Given the description of an element on the screen output the (x, y) to click on. 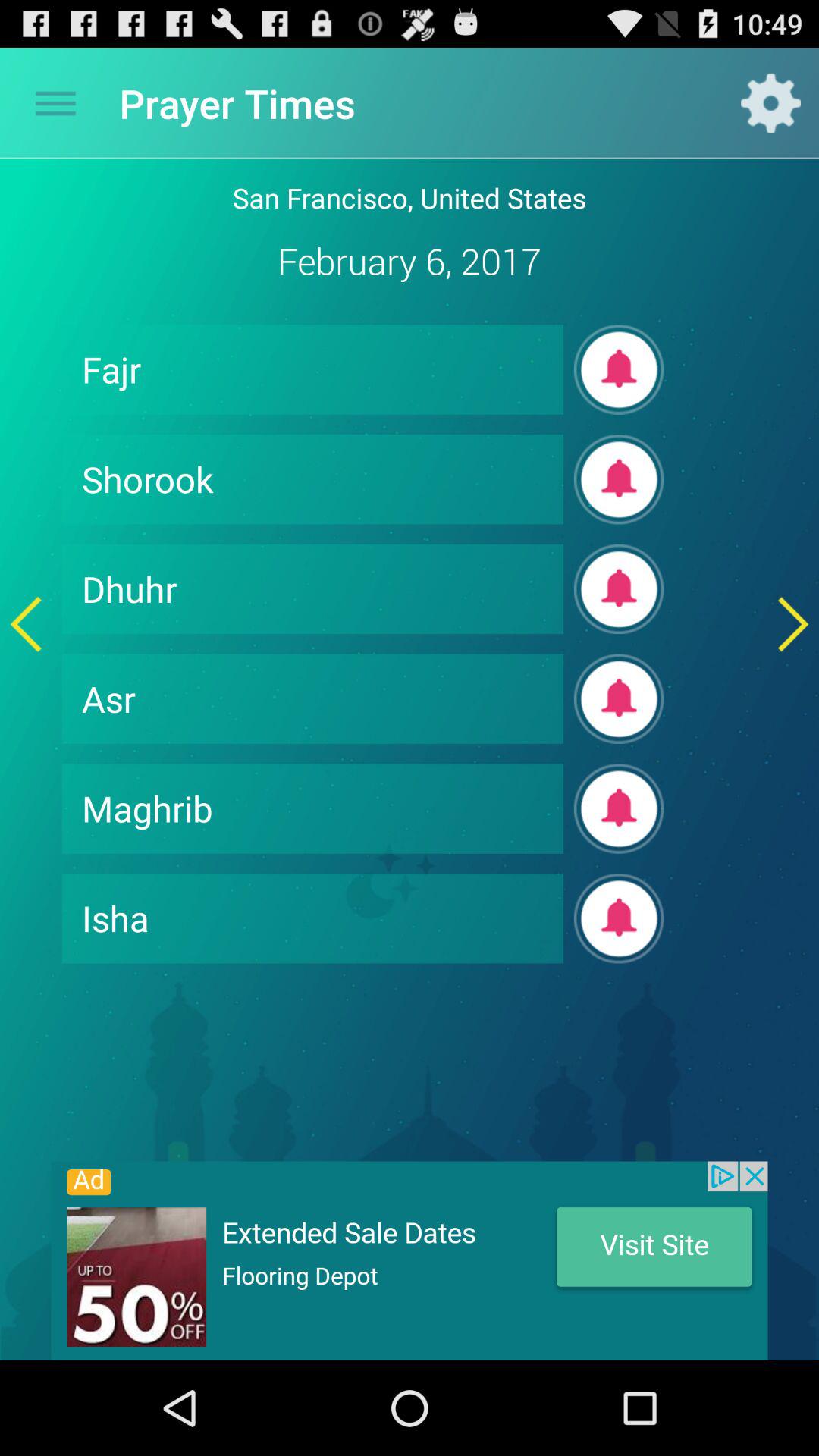
bell icon represents the sound of the asr and it plays that sound (618, 698)
